Given the description of an element on the screen output the (x, y) to click on. 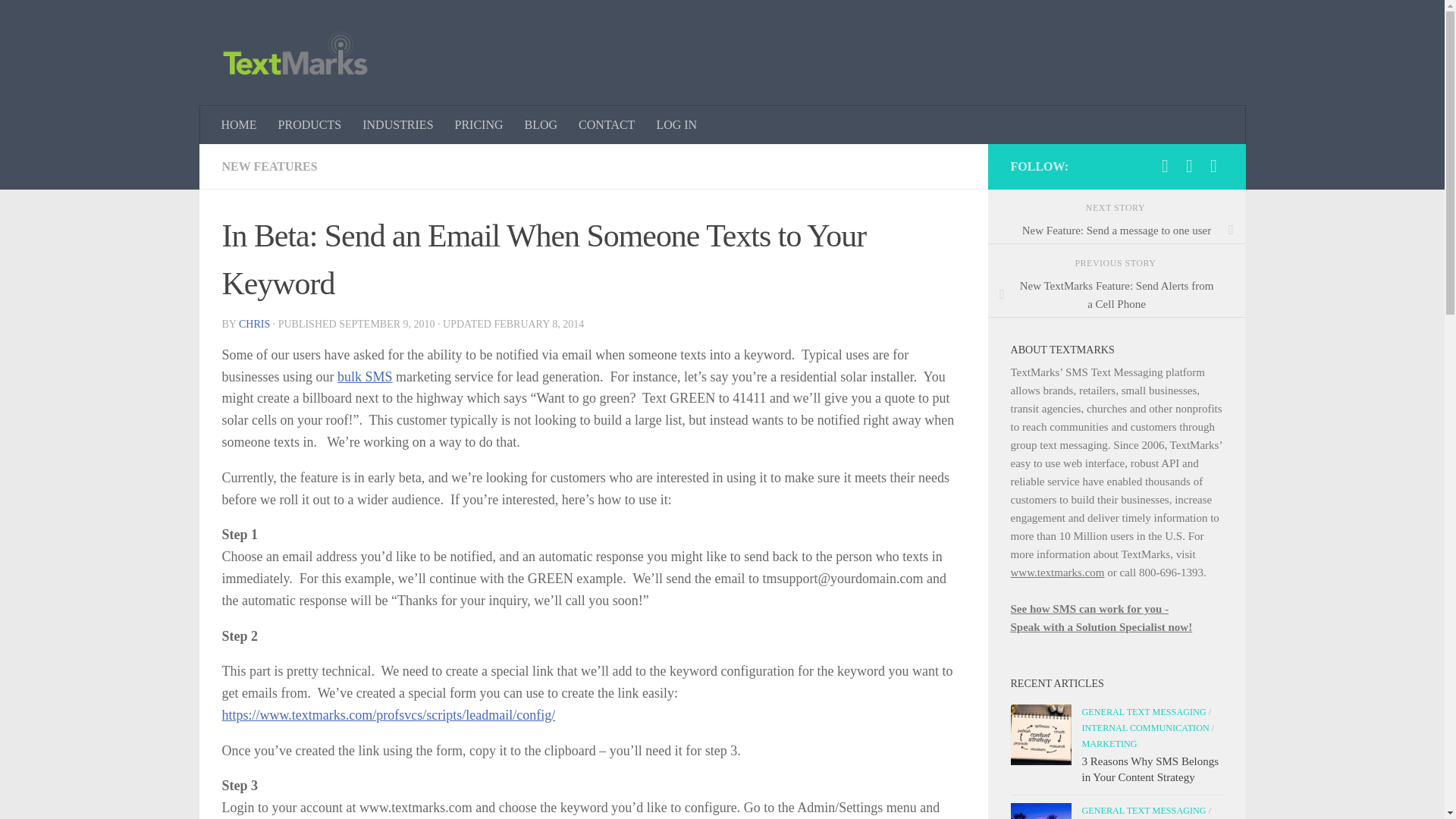
CHRIS (253, 324)
CONTACT (606, 125)
Skip to content (59, 20)
PRICING (478, 125)
bulk SMS (365, 376)
LOG IN (676, 125)
PRODUCTS (309, 125)
INDUSTRIES (398, 125)
NEW FEATURES (269, 165)
blog (541, 125)
